Given the description of an element on the screen output the (x, y) to click on. 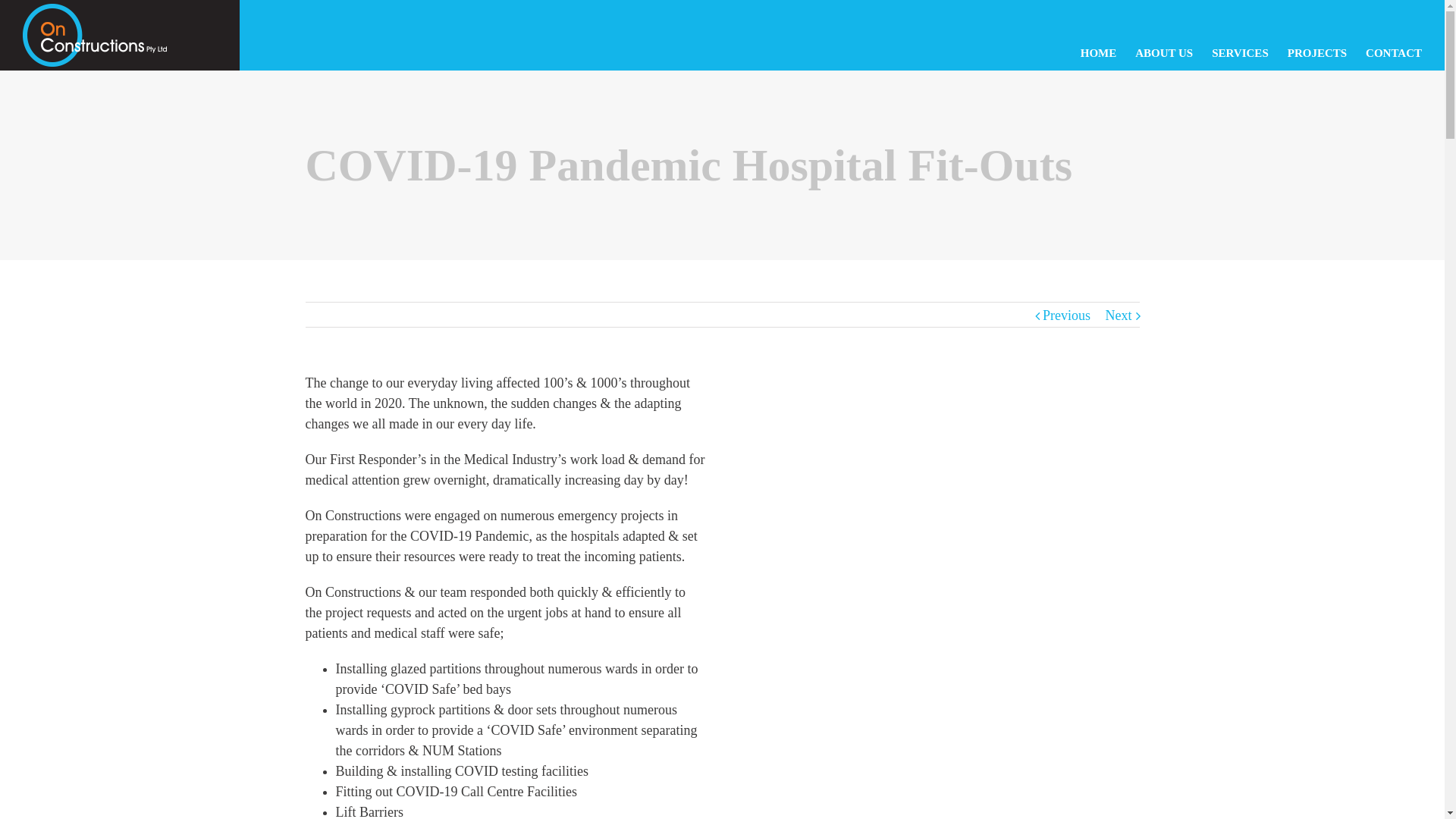
SERVICES Element type: text (1239, 52)
HOME Element type: text (1098, 52)
CONTACT Element type: text (1393, 52)
Next Element type: text (1118, 315)
Previous Element type: text (1066, 315)
PROJECTS Element type: text (1316, 52)
ABOUT US Element type: text (1163, 52)
